Given the description of an element on the screen output the (x, y) to click on. 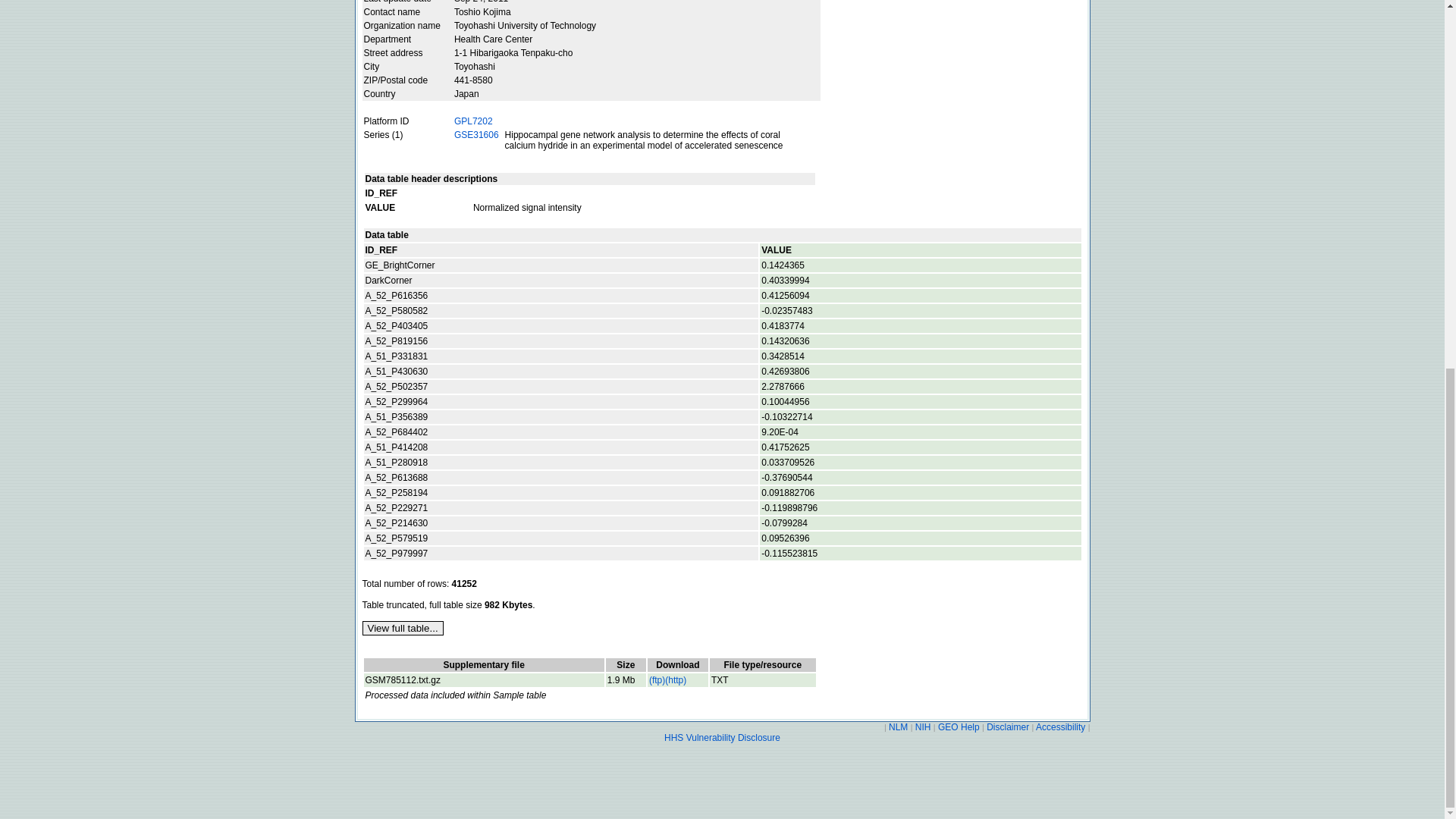
View full table... (403, 627)
View full table... (403, 627)
HHS Vulnerability Disclosure (721, 737)
Disclaimer (1008, 726)
GEO Help (958, 726)
2012647 (625, 680)
GPL7202 (473, 121)
Accessibility (1060, 726)
NIH (922, 726)
NLM (898, 726)
GSE31606 (476, 134)
